Given the description of an element on the screen output the (x, y) to click on. 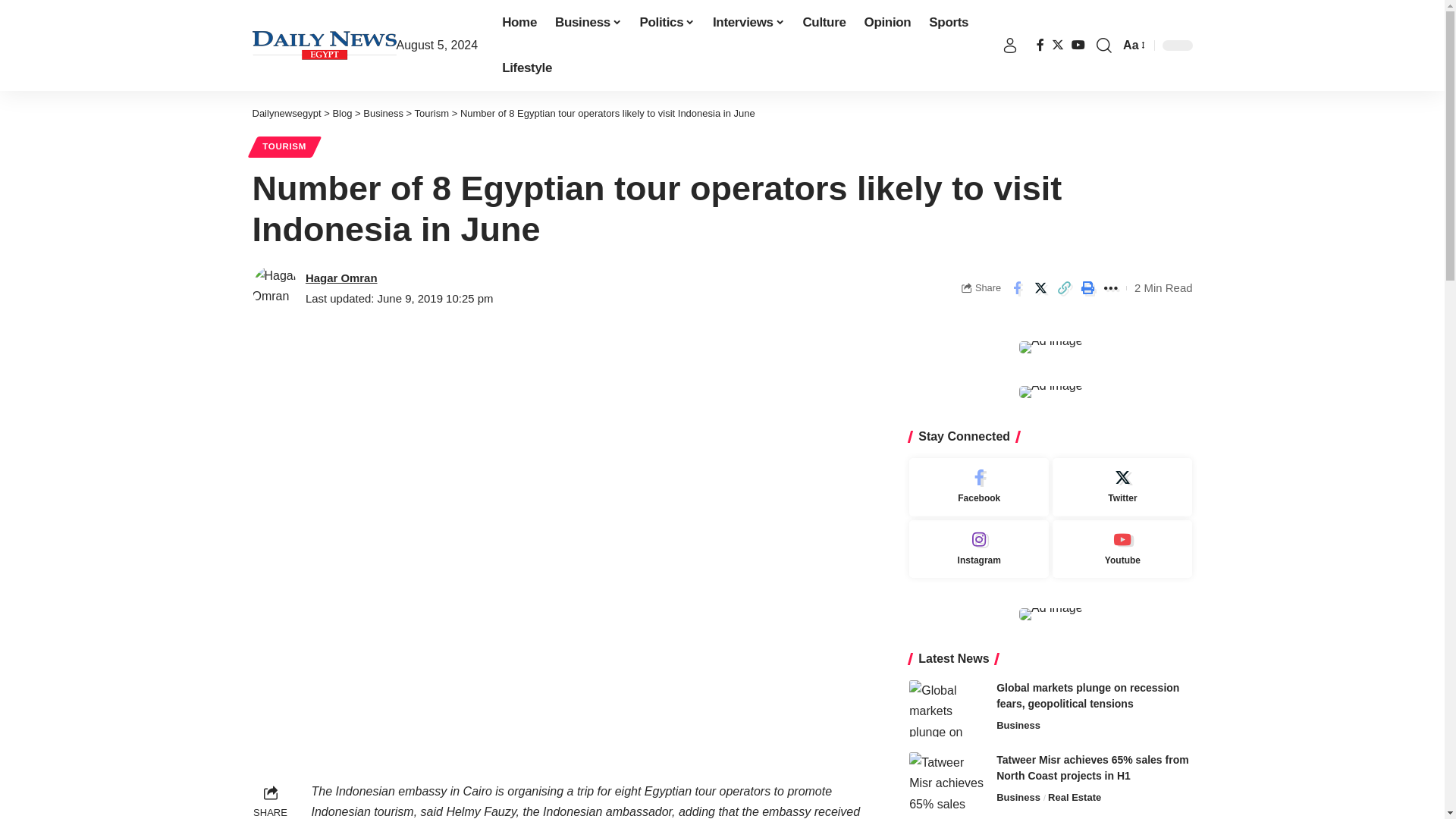
Business (588, 22)
Home (519, 22)
Dailynewsegypt (323, 45)
Opinion (888, 22)
Politics (666, 22)
Interviews (748, 22)
Culture (823, 22)
